Given the description of an element on the screen output the (x, y) to click on. 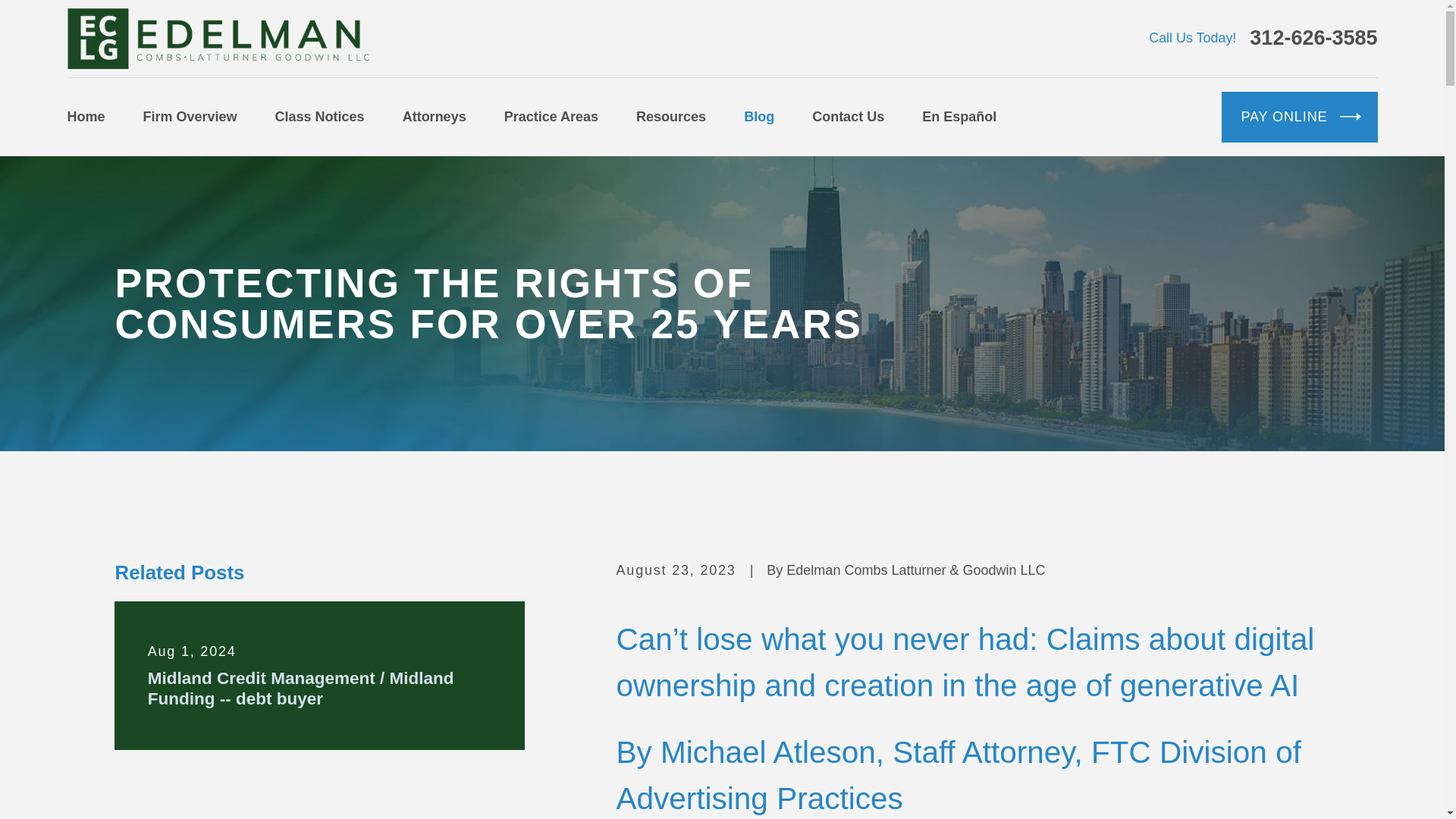
Home (217, 38)
Class Notices (320, 117)
Practice Areas (550, 117)
312-626-3585 (1313, 37)
Firm Overview (189, 117)
Attorneys (434, 117)
